Given the description of an element on the screen output the (x, y) to click on. 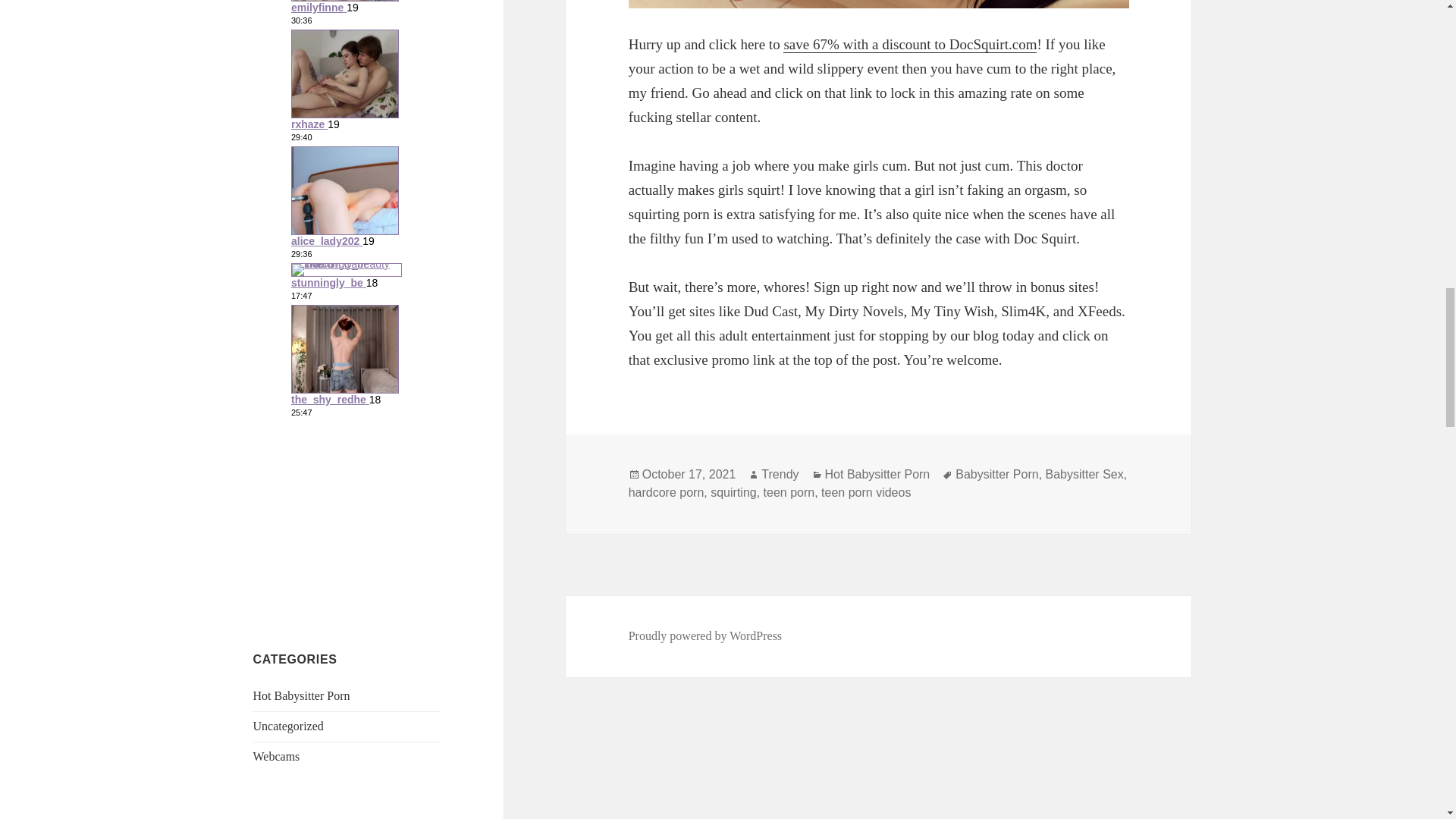
Uncategorized (288, 725)
Webcams (276, 756)
Hot Babysitter Porn (301, 695)
